Given the description of an element on the screen output the (x, y) to click on. 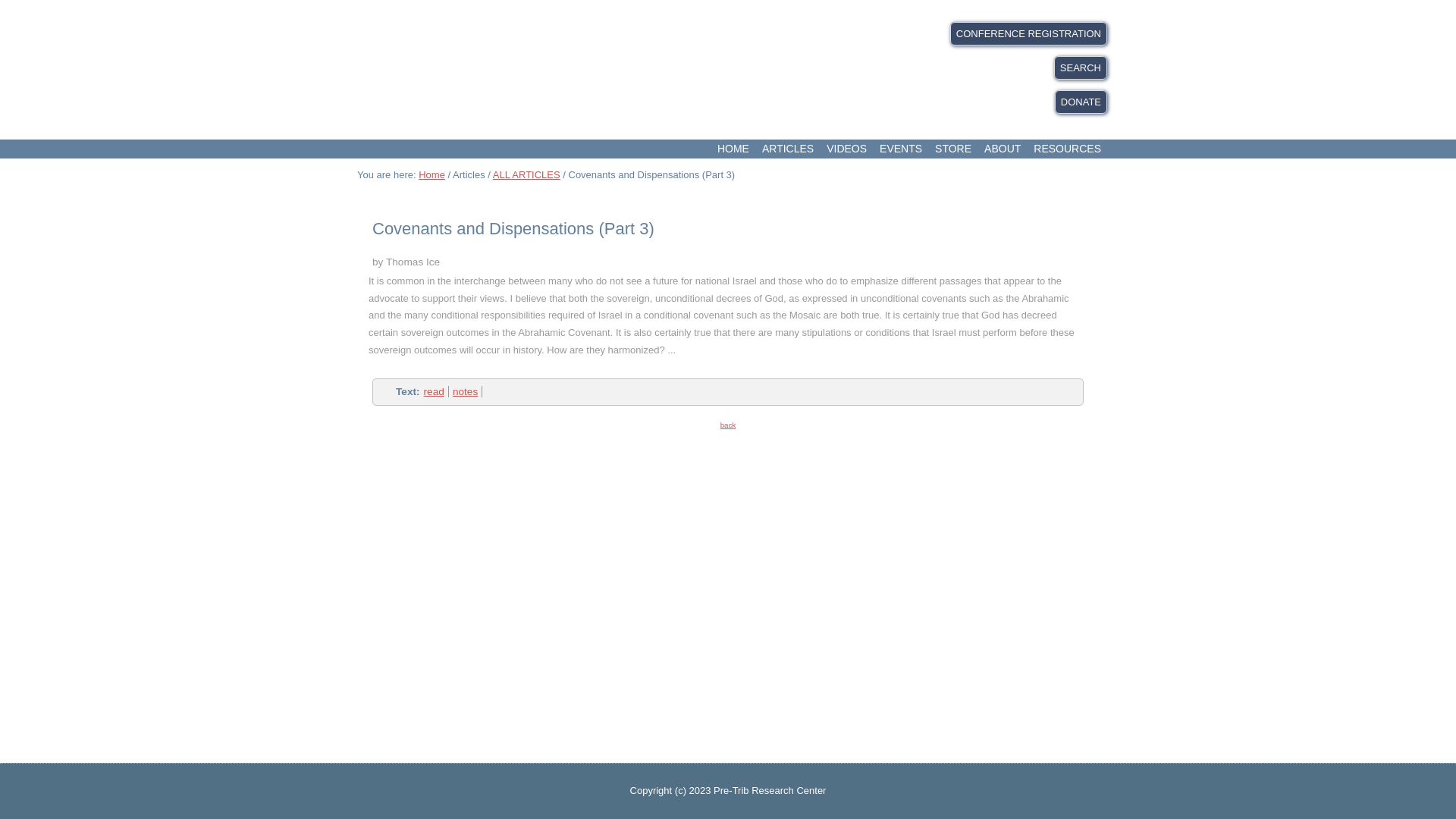
CONFERENCE REGISTRATION (1028, 33)
Search (1080, 67)
Donate (1080, 101)
HOME (733, 148)
SEARCH (1080, 67)
Conference Registration (1028, 33)
DONATE (1080, 101)
ARTICLES (787, 148)
